Given the description of an element on the screen output the (x, y) to click on. 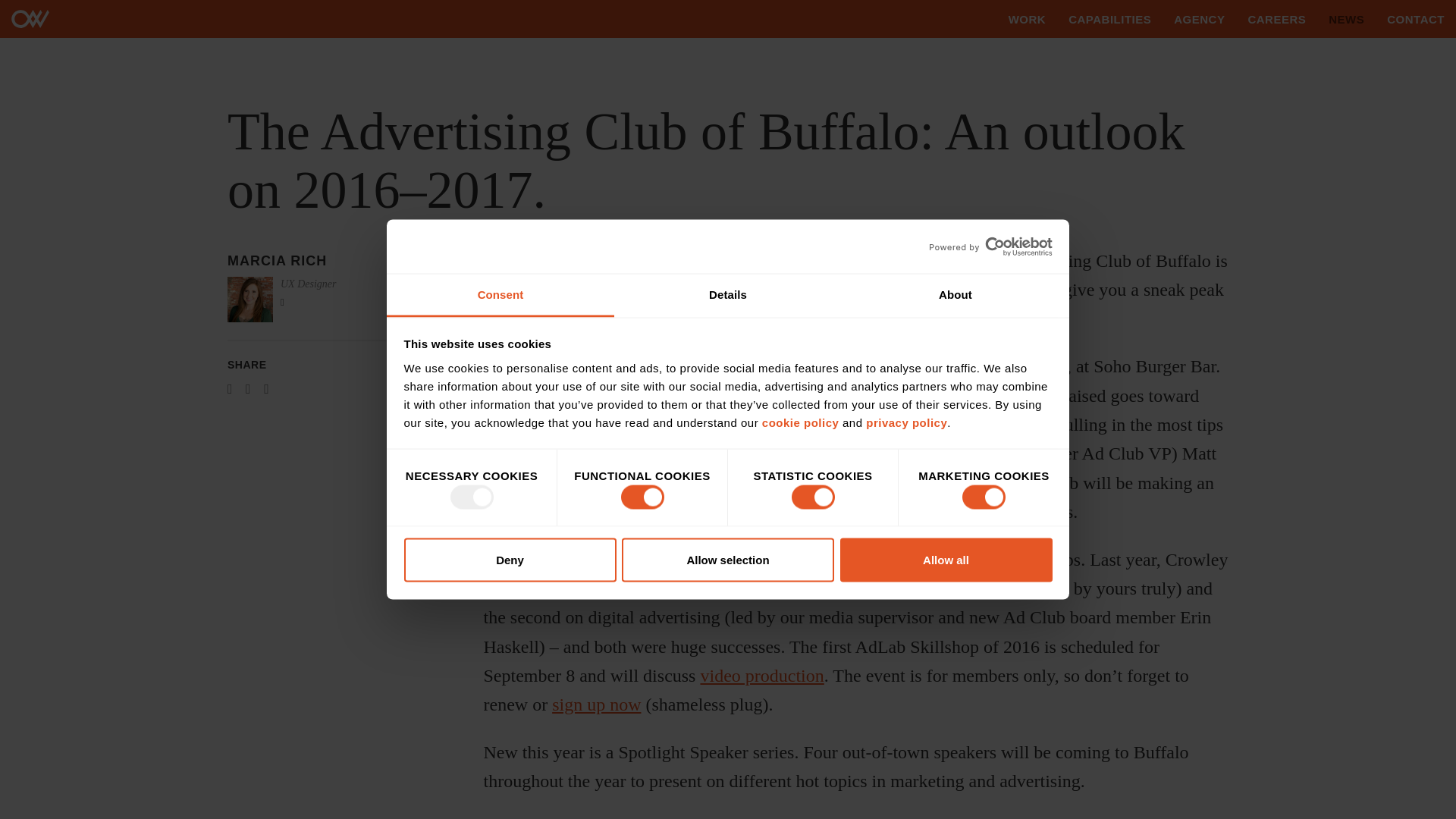
cookie policy (800, 421)
About (954, 294)
Details (727, 294)
Consent (500, 294)
privacy policy (906, 421)
